Given the description of an element on the screen output the (x, y) to click on. 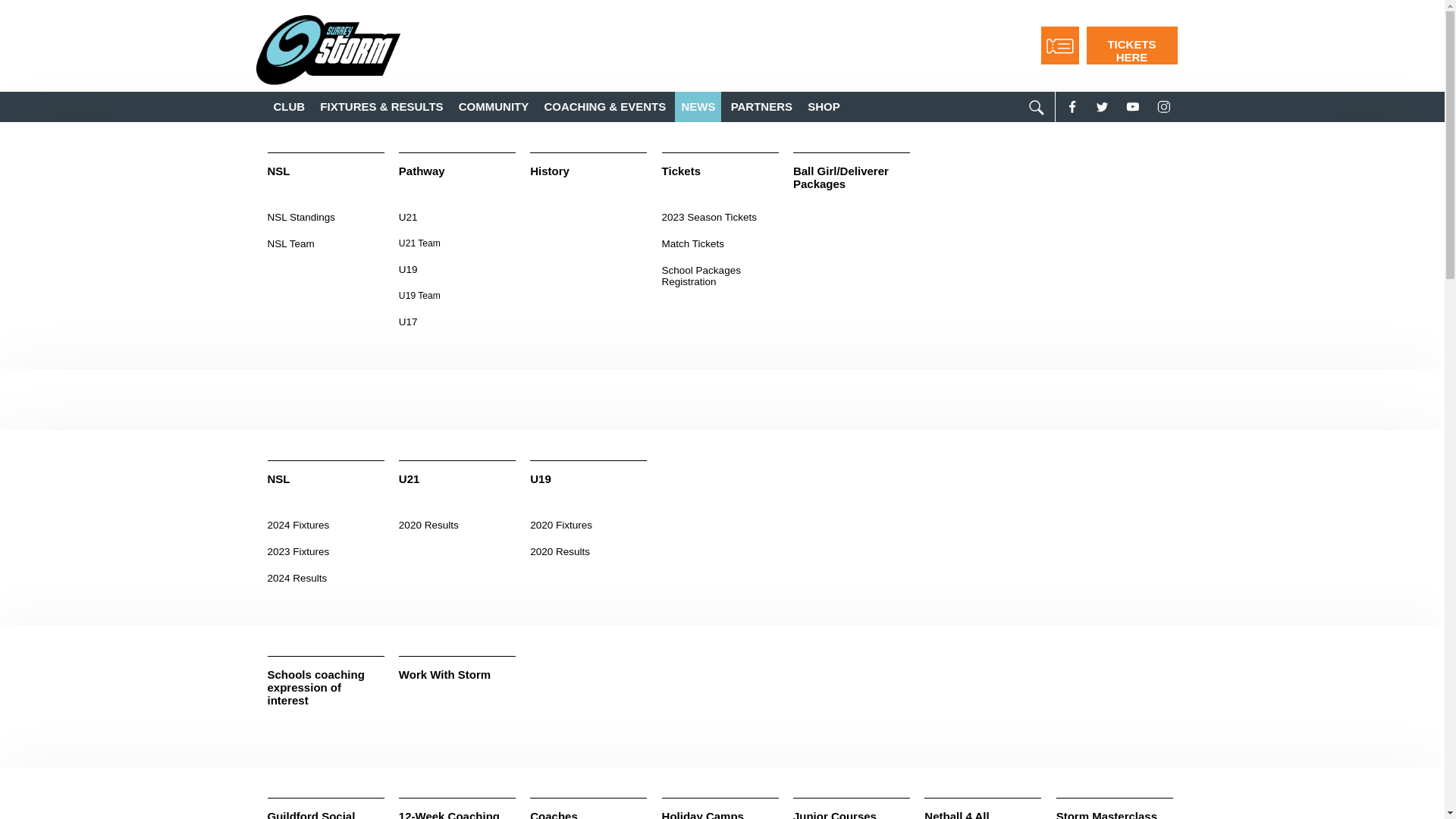
U21 (456, 489)
2024 Results (325, 580)
2023 Season Tickets (720, 218)
NEWS (697, 106)
Tickets (720, 181)
U19 (587, 489)
U19 (456, 271)
NSL Team (325, 245)
U21 (456, 218)
U17 (456, 323)
